Given the description of an element on the screen output the (x, y) to click on. 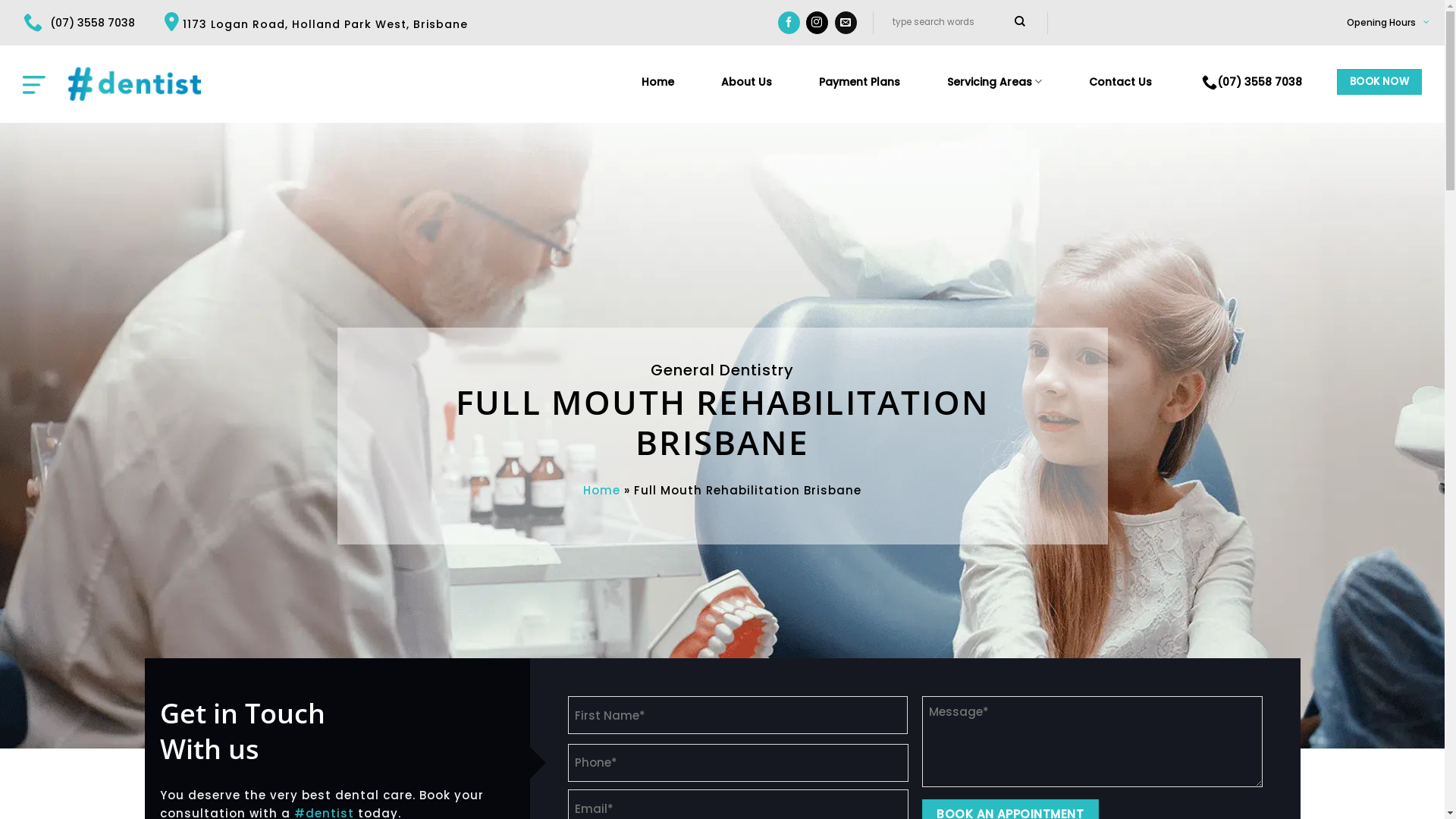
(07) 3558 7038 Element type: text (1251, 81)
About Us Element type: text (746, 81)
(07) 3558 7038 Element type: text (78, 22)
Hashtag Dentist Element type: hover (134, 83)
Servicing Areas Element type: text (994, 81)
Payment Plans Element type: text (859, 81)
Home Element type: text (657, 81)
Contact Us Element type: text (1120, 81)
1173 Logan Road, Holland Park West, Brisbane Element type: text (315, 23)
Home Element type: text (601, 490)
BOOK NOW Element type: text (1378, 81)
